Given the description of an element on the screen output the (x, y) to click on. 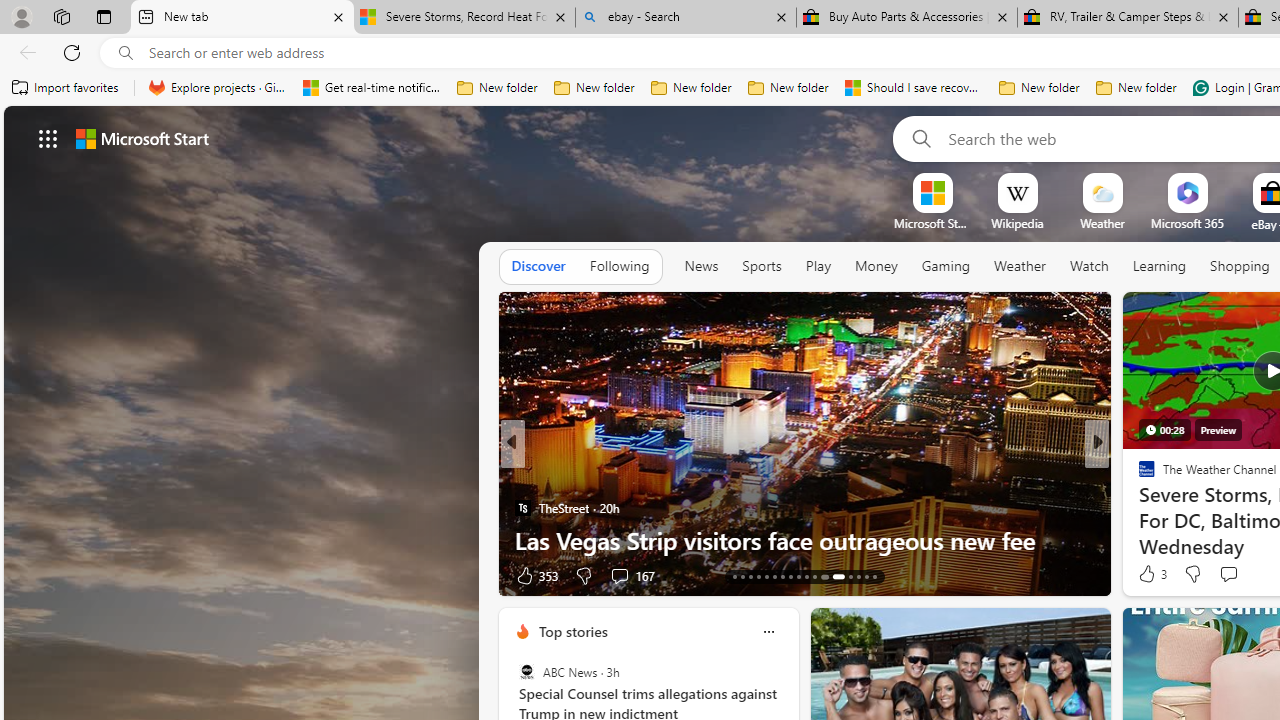
99 Like (1149, 574)
Learning (1159, 267)
Gaming (945, 265)
Buy Auto Parts & Accessories | eBay (907, 17)
More options (768, 631)
View comments 8 Comment (1234, 574)
Dailymotion (1138, 507)
Class: icon-img (768, 632)
News (701, 265)
AutomationID: tab-20 (789, 576)
